Given the description of an element on the screen output the (x, y) to click on. 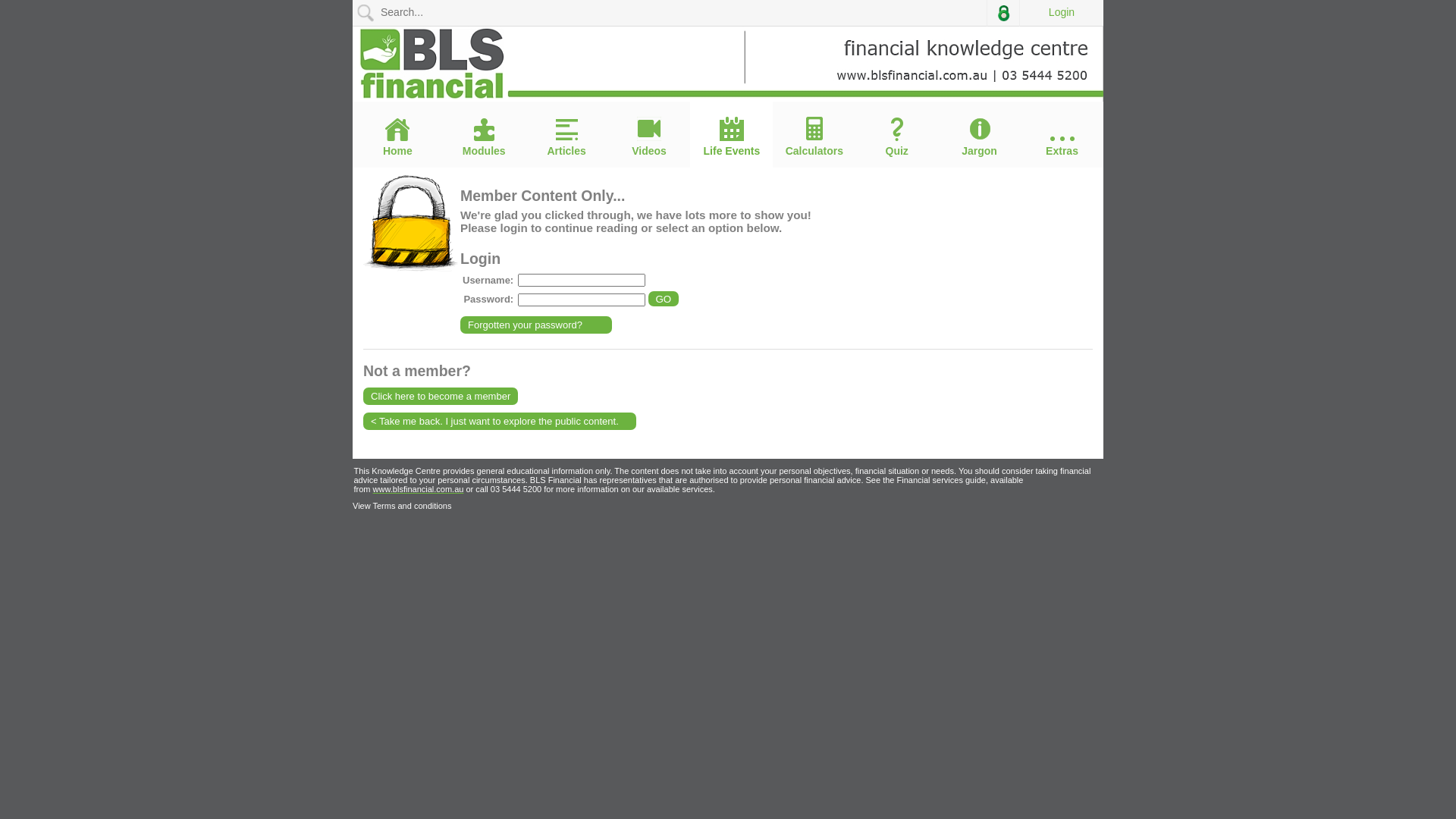
Articles Element type: text (566, 137)
Forgotten your password? Element type: text (535, 324)
Modules Element type: text (483, 136)
www.blsfinancial.com.au Element type: text (418, 488)
Click here to become a member Element type: text (440, 395)
GO Element type: text (663, 298)
Videos Element type: text (649, 136)
Jargon Element type: text (979, 136)
View Terms and conditions Element type: text (401, 505)
Extras Element type: text (1061, 146)
Calculators Element type: text (813, 136)
< Take me back. I just want to explore the public content. Element type: text (499, 420)
Life Events Element type: text (731, 136)
Home Element type: text (397, 136)
Quiz Element type: text (896, 136)
